Given the description of an element on the screen output the (x, y) to click on. 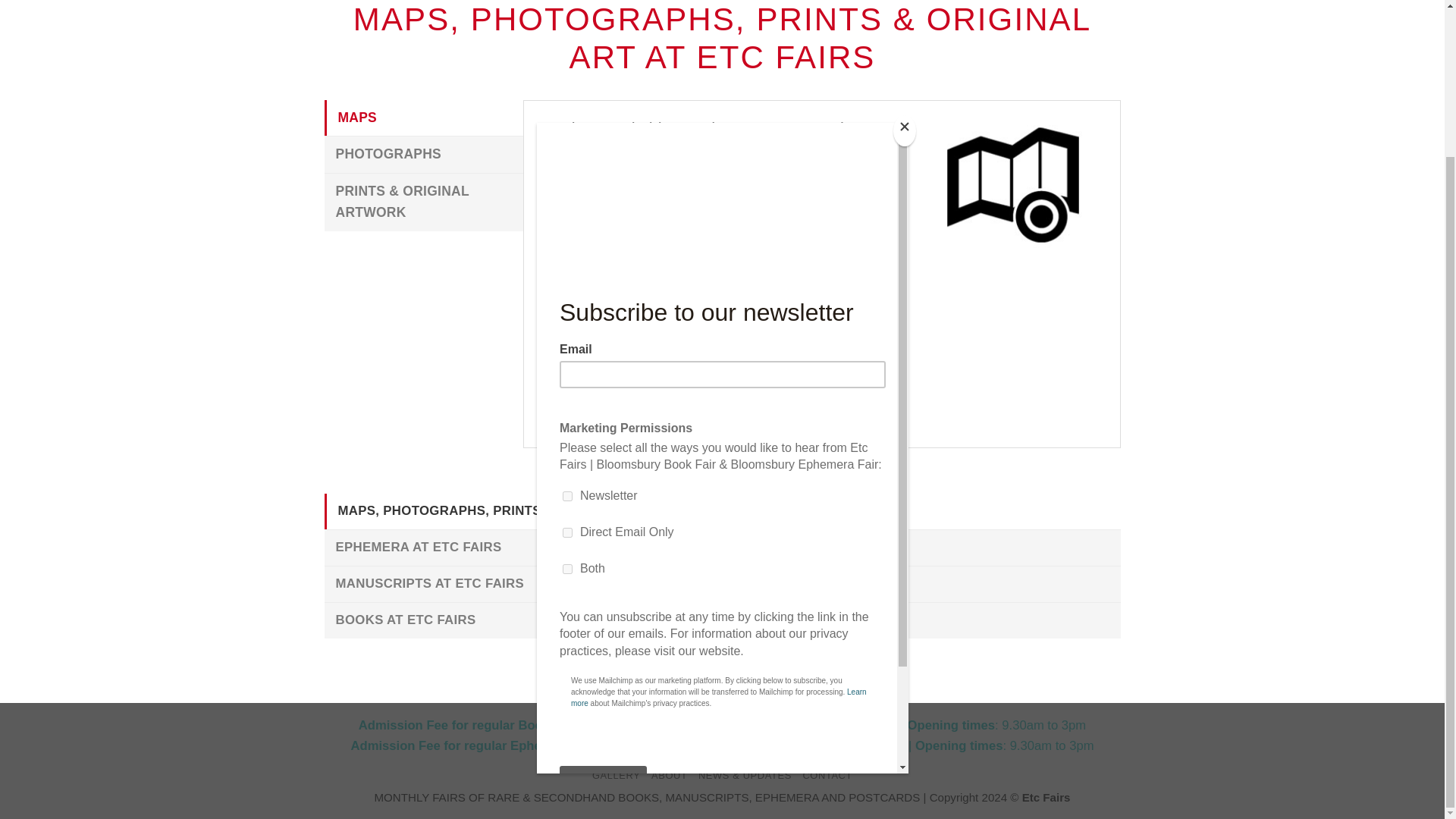
MANUSCRIPTS AT ETC FAIRS (722, 583)
EPHEMERA AT ETC FAIRS (722, 547)
ABOUT (668, 775)
GALLERY (616, 775)
MAPS (424, 117)
PHOTOGRAPHS (424, 154)
CONTACT (826, 775)
BOOKS AT ETC FAIRS (722, 620)
